Given the description of an element on the screen output the (x, y) to click on. 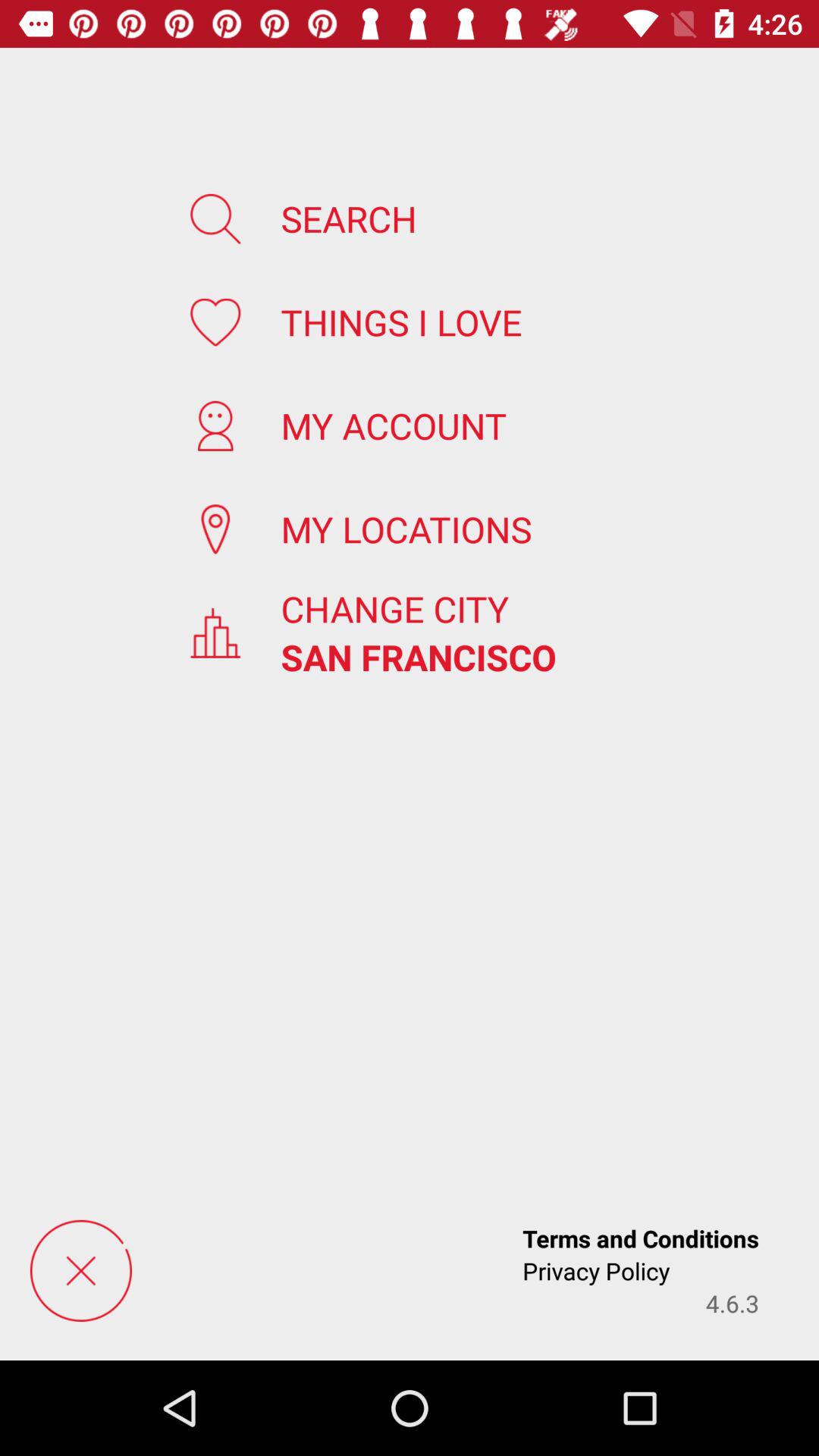
select app below the my account icon (405, 529)
